Given the description of an element on the screen output the (x, y) to click on. 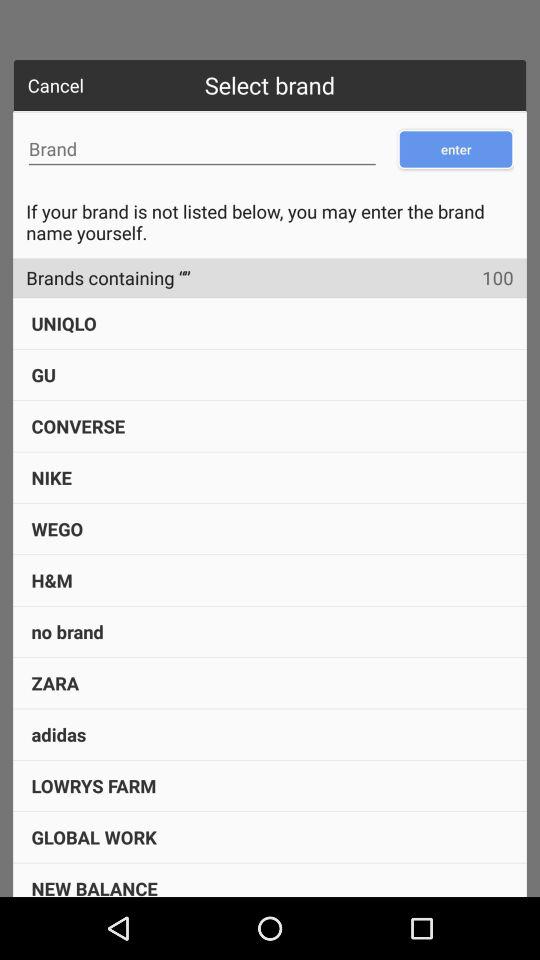
turn off icon below the if your brand icon (101, 277)
